Given the description of an element on the screen output the (x, y) to click on. 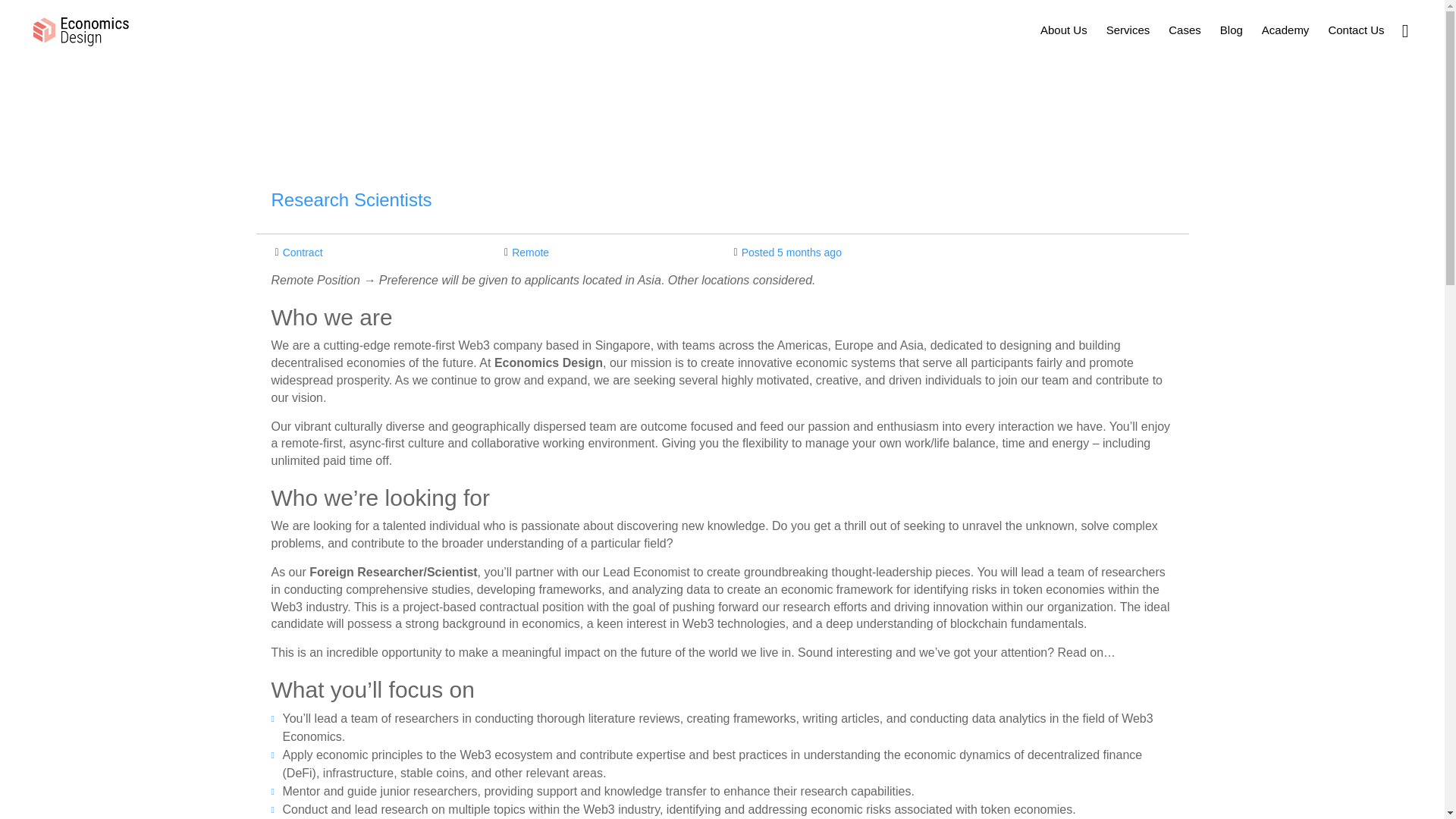
CASES (695, 775)
Blog (1231, 29)
Services (1128, 29)
SERVICES (636, 775)
CONTACT US (871, 775)
Cases (1184, 29)
Academy (1285, 29)
ACADEMY (796, 775)
ABOUT US (567, 775)
About Us (1063, 29)
BLOG (741, 775)
Contact Us (1355, 29)
